Given the description of an element on the screen output the (x, y) to click on. 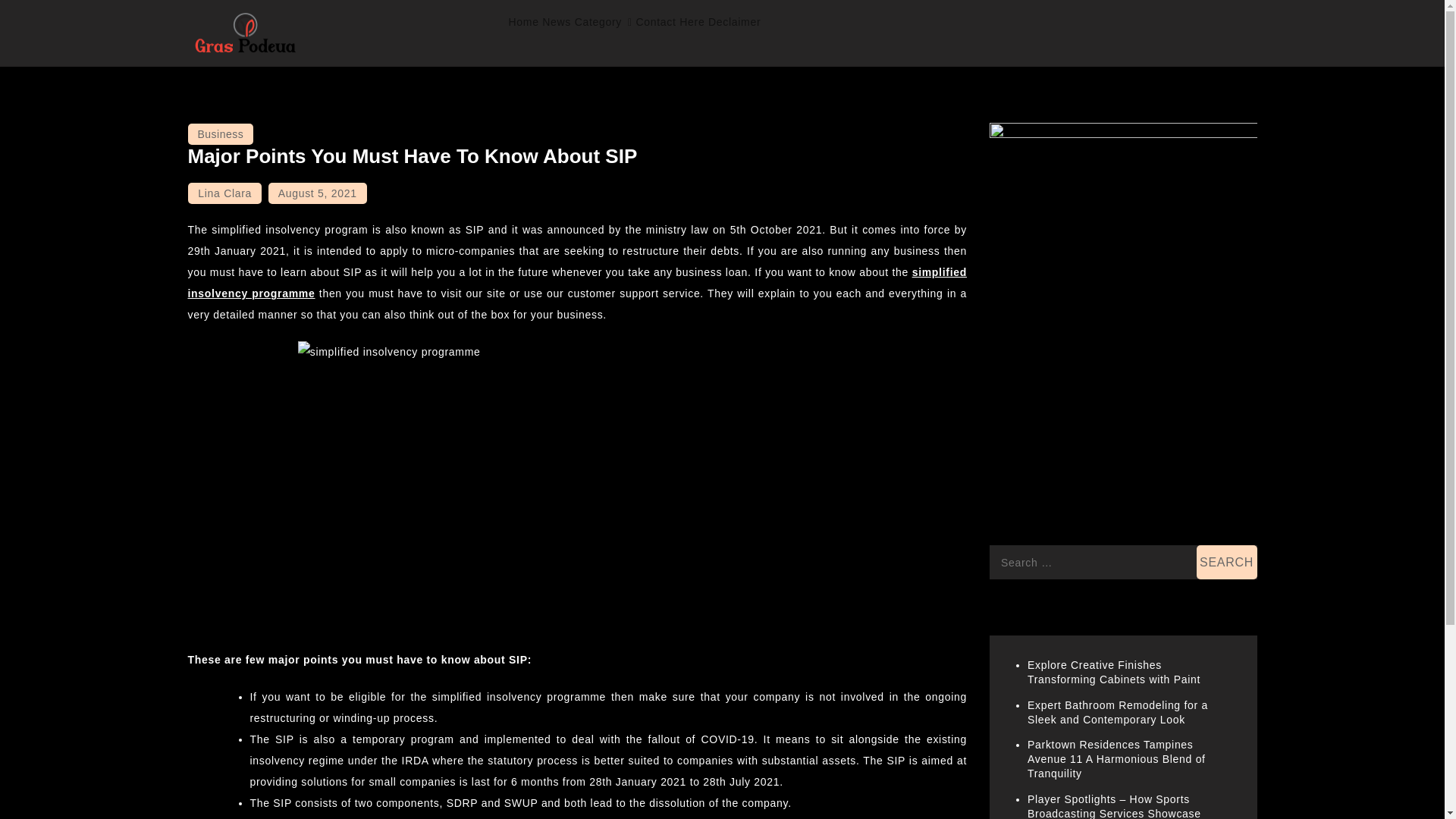
August 5, 2021 (316, 192)
Search (1226, 562)
Lina Clara (224, 192)
Declaimer (733, 21)
Business (220, 133)
Home (523, 21)
Search (1226, 562)
Expert Bathroom Remodeling for a Sleek and Contemporary Look (1117, 712)
News Category (586, 22)
